Given the description of an element on the screen output the (x, y) to click on. 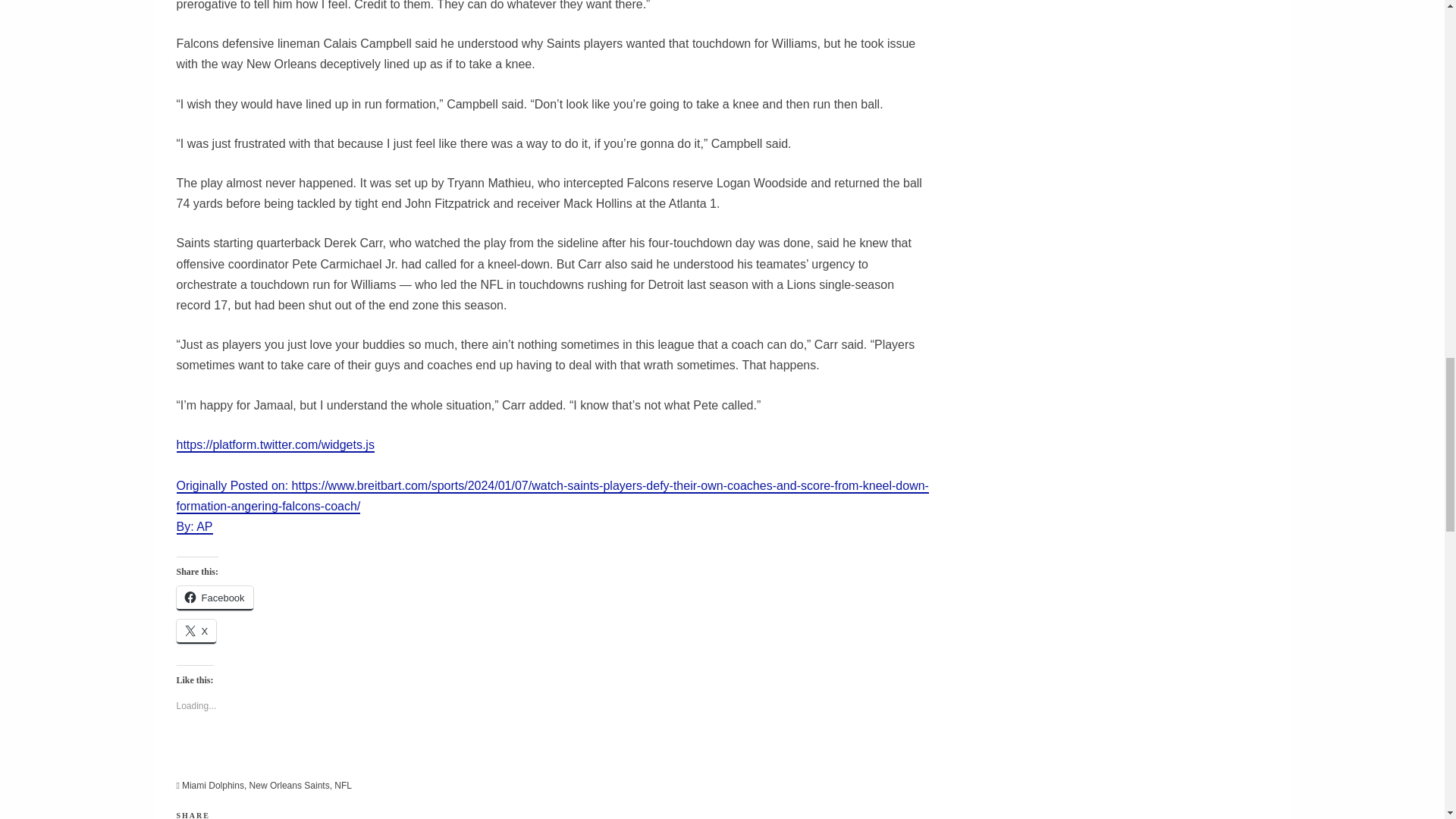
Like or Reblog (552, 757)
Click to share on X (195, 631)
New Orleans Saints (289, 785)
X (195, 631)
NFL (343, 785)
Facebook (213, 598)
Click to share on Facebook (213, 598)
Miami Dolphins (213, 785)
